Given the description of an element on the screen output the (x, y) to click on. 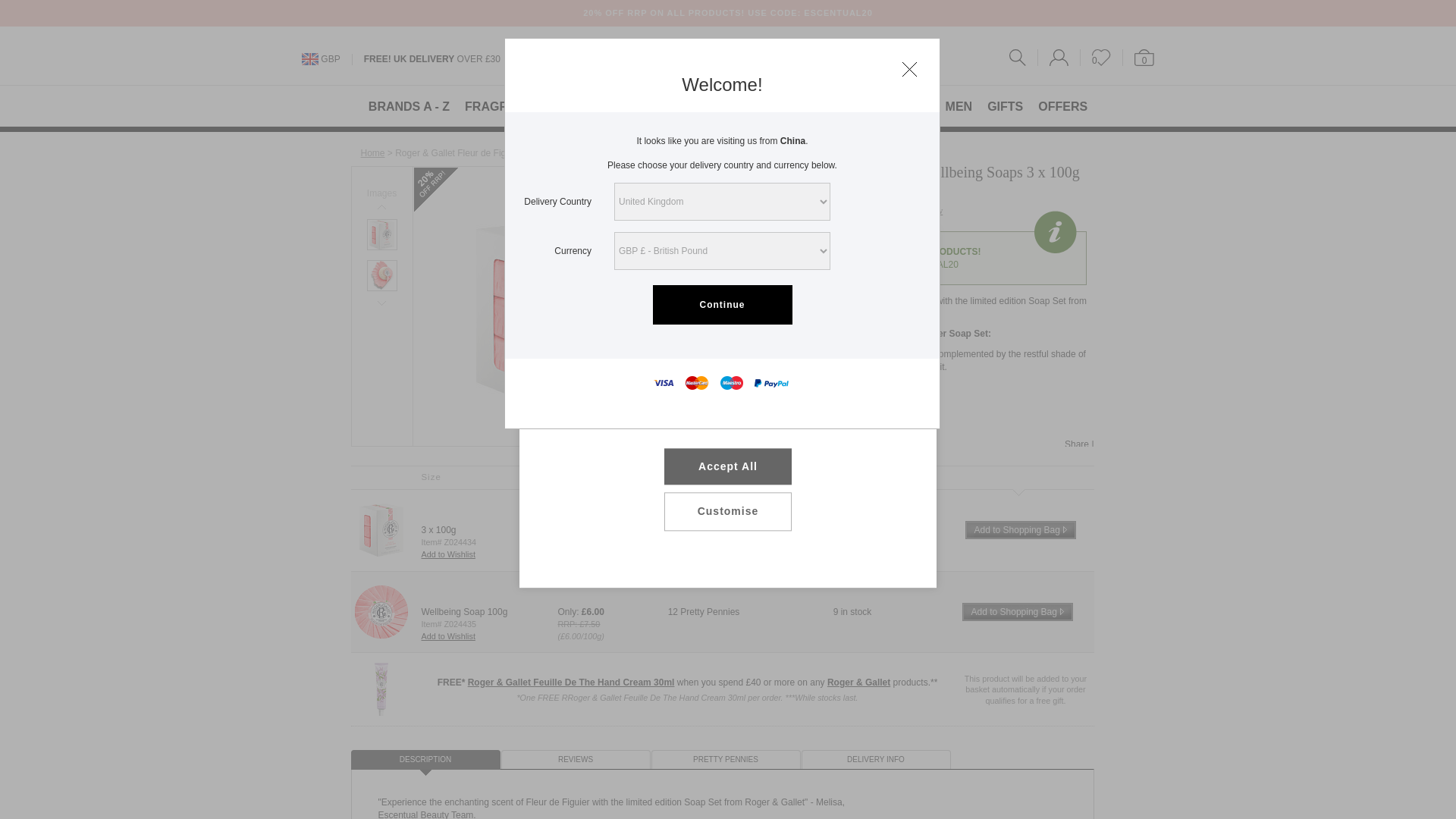
0 (1101, 57)
Read all reviews (839, 210)
Go to Home Page (373, 153)
BRANDS A - Z (409, 105)
4.9 out of 5 (754, 209)
Write a review (912, 210)
Escentual (727, 57)
GBP (329, 59)
0 (1138, 57)
